Given the description of an element on the screen output the (x, y) to click on. 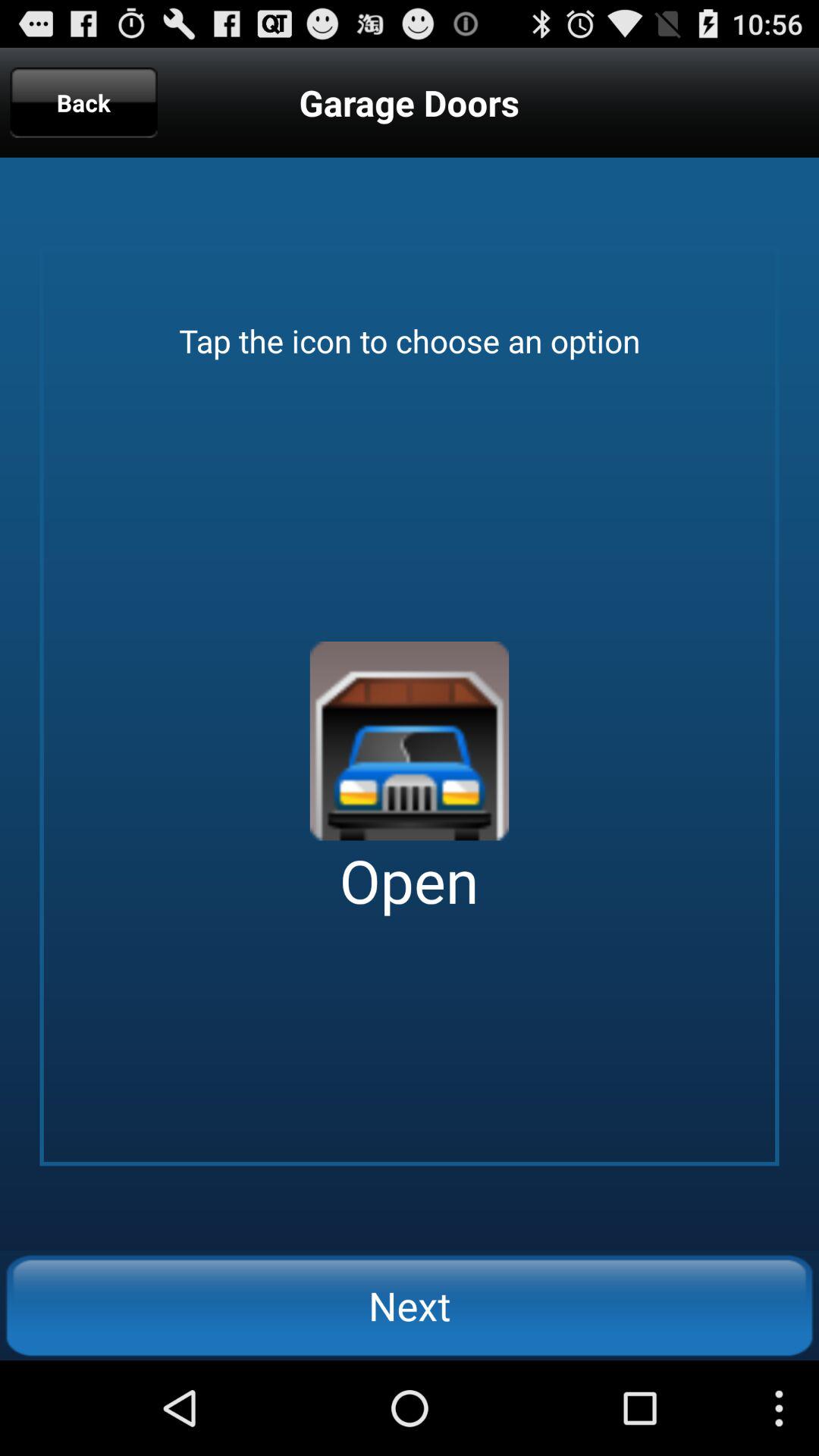
press app below the tap the icon (409, 740)
